Given the description of an element on the screen output the (x, y) to click on. 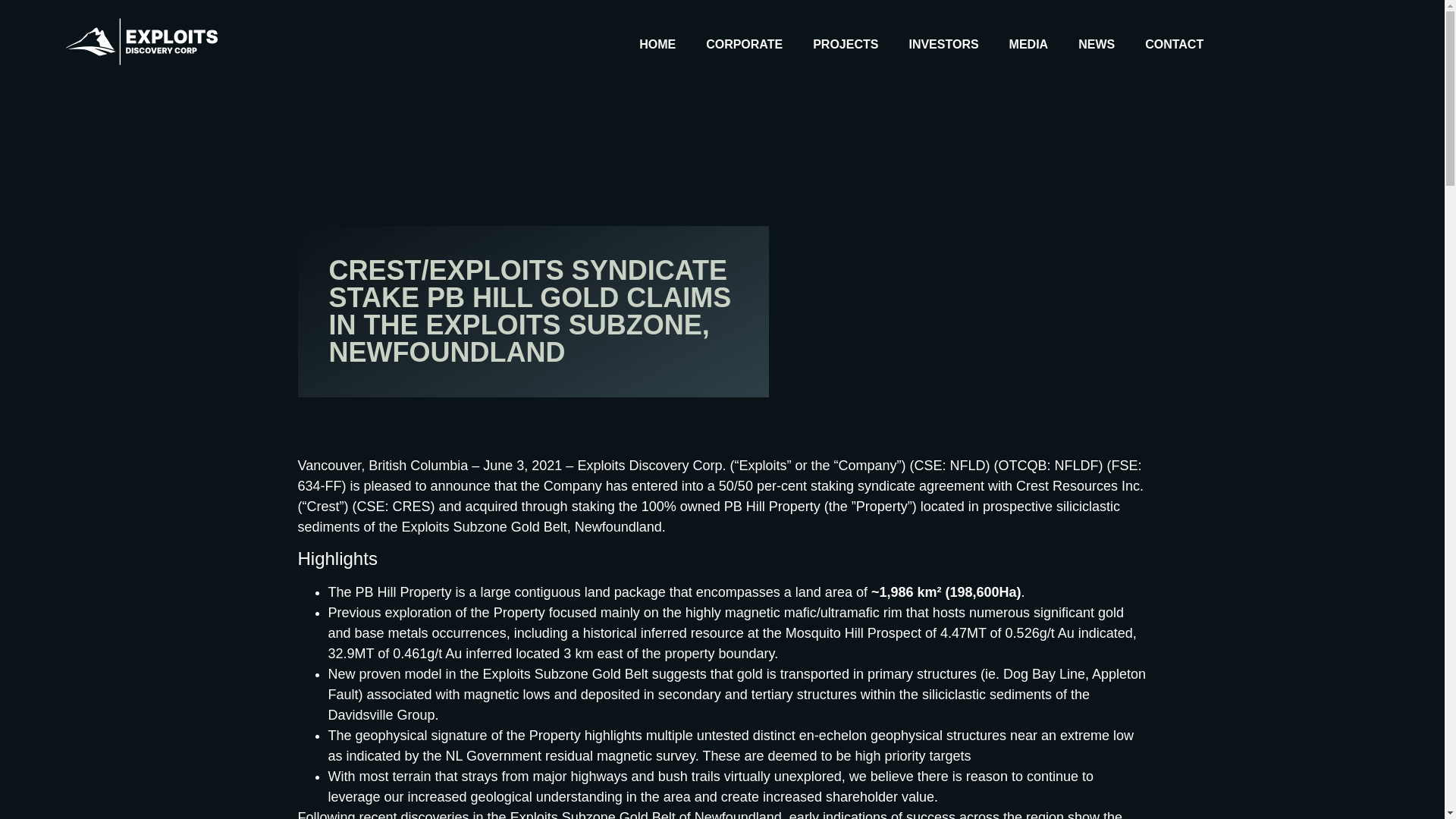
HOME (657, 44)
NEWS (1096, 44)
CONTACT (1174, 44)
PROJECTS (845, 44)
CORPORATE (743, 44)
MEDIA (1028, 44)
INVESTORS (943, 44)
